Given the description of an element on the screen output the (x, y) to click on. 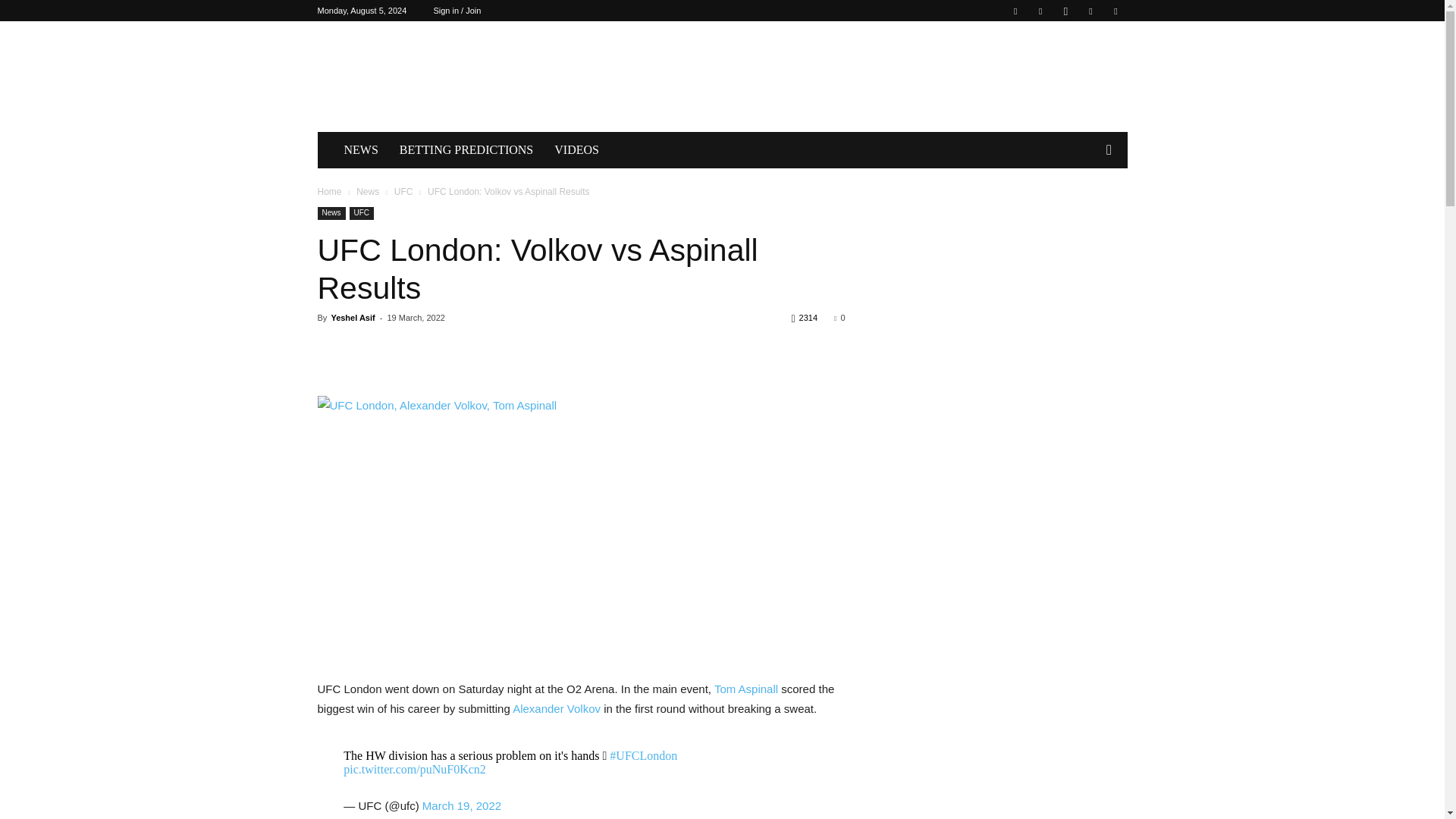
Instagram (1065, 10)
NEWS (360, 149)
Twitter (1090, 10)
View all posts in UFC (403, 191)
Youtube (1114, 10)
View all posts in News (367, 191)
Facebook (1015, 10)
